Given the description of an element on the screen output the (x, y) to click on. 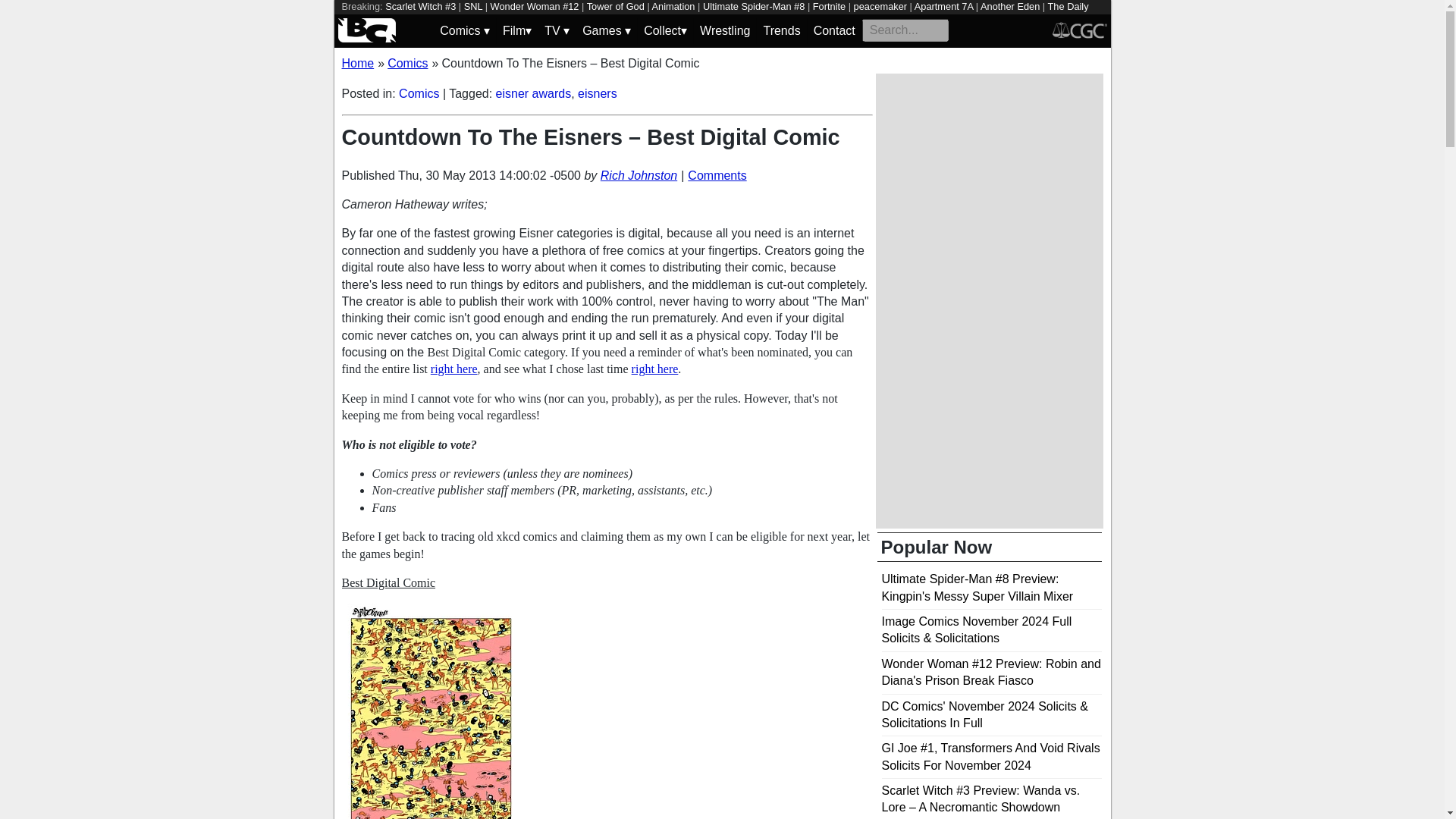
Apartment 7A (944, 6)
Another Eden (1009, 6)
Toggle Dropdown (556, 30)
Tower of God (615, 6)
SNL (472, 6)
Toggle Dropdown (665, 30)
House Of Golf (456, 19)
Fortnite (828, 6)
peacemaker (880, 6)
The Daily Show (713, 12)
